Given the description of an element on the screen output the (x, y) to click on. 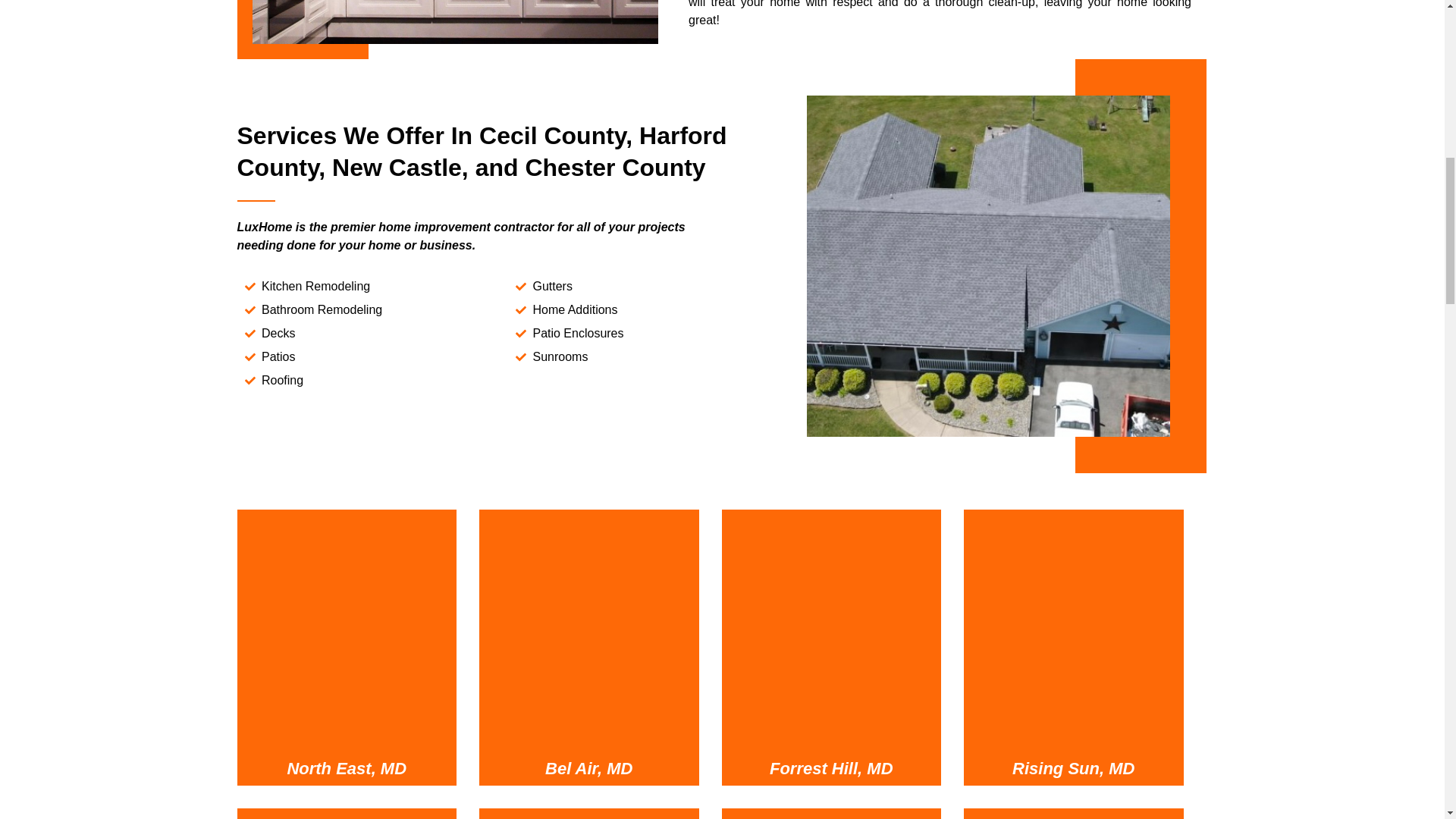
Elkton, MD (346, 817)
North East, MD (346, 768)
Bel Air, MD (587, 768)
Rising Sun, MD (1072, 768)
Bel Air, MD (588, 630)
Havre De Grace, MD (1073, 817)
Perryville, MD (588, 817)
Rising Sun, MD (1073, 630)
Forrest Hill, MD (831, 768)
Forrest Hill, MD (831, 630)
North East, MD (346, 630)
Chesapeake City, MD (831, 817)
